Given the description of an element on the screen output the (x, y) to click on. 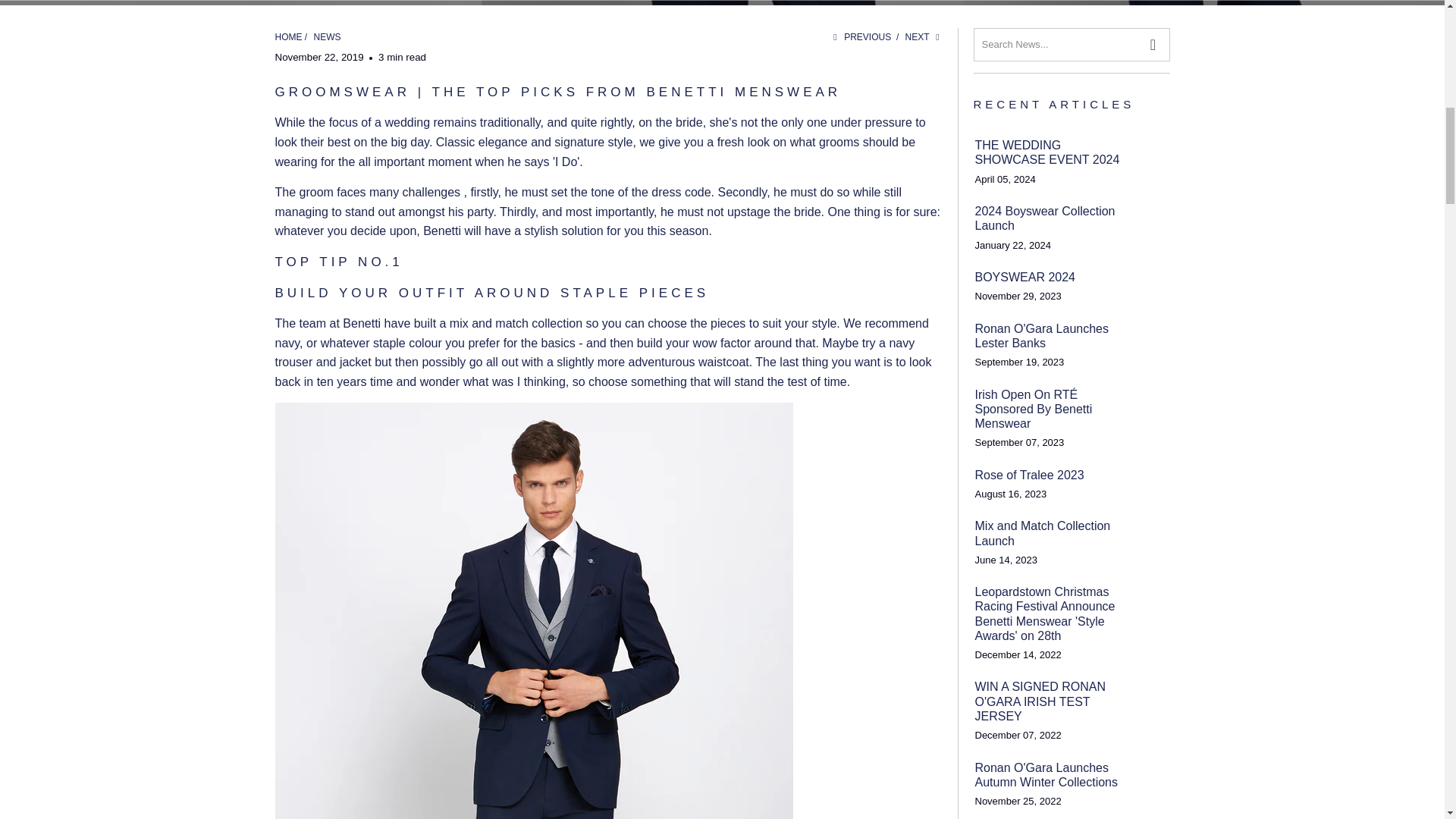
News (327, 36)
THE WEDDING SHOWCASE EVENT 2024 (1052, 152)
Benetti Menswear (288, 36)
